Given the description of an element on the screen output the (x, y) to click on. 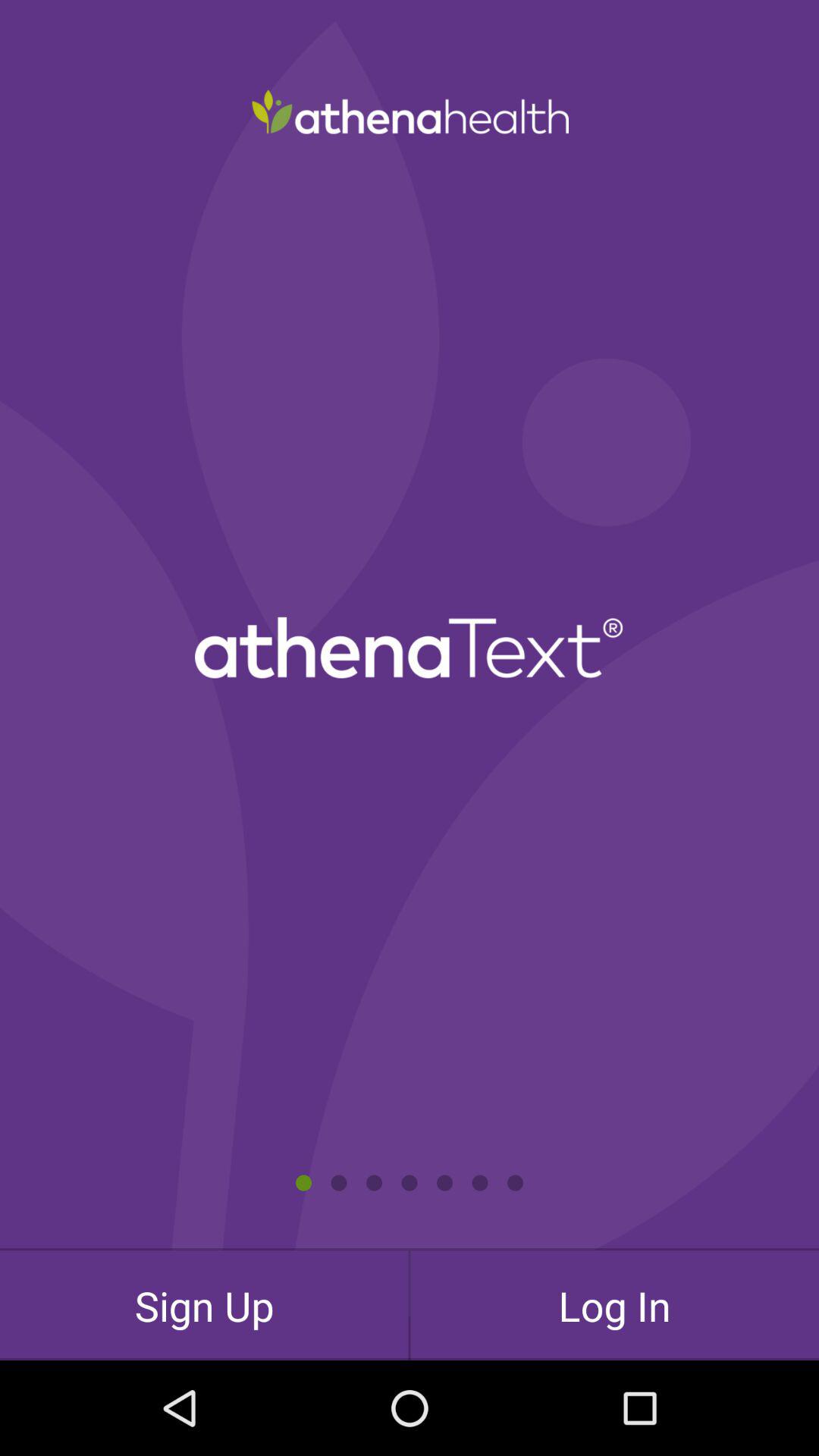
flip to log in (614, 1305)
